Given the description of an element on the screen output the (x, y) to click on. 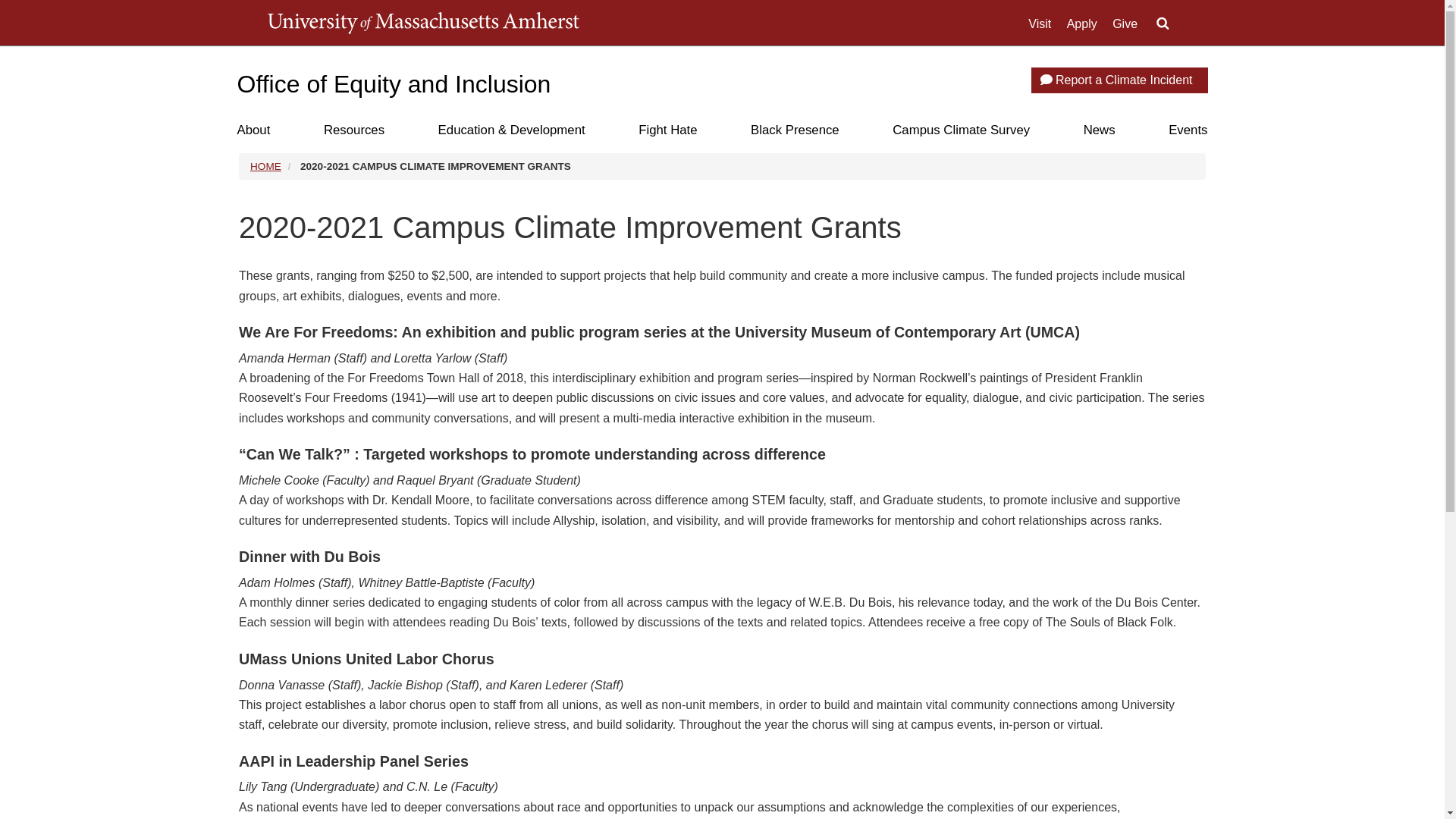
The University of Massachusetts Amherst (422, 22)
Black Presence (795, 130)
Resources (353, 130)
Search UMass.edu (1161, 23)
Report (1046, 79)
Give (1124, 24)
News (1099, 130)
Events (1188, 130)
UMass Amherst (422, 22)
HOME (265, 165)
About (252, 130)
Visit (1039, 24)
Campus Climate Survey (960, 130)
Apply (1082, 24)
